Given the description of an element on the screen output the (x, y) to click on. 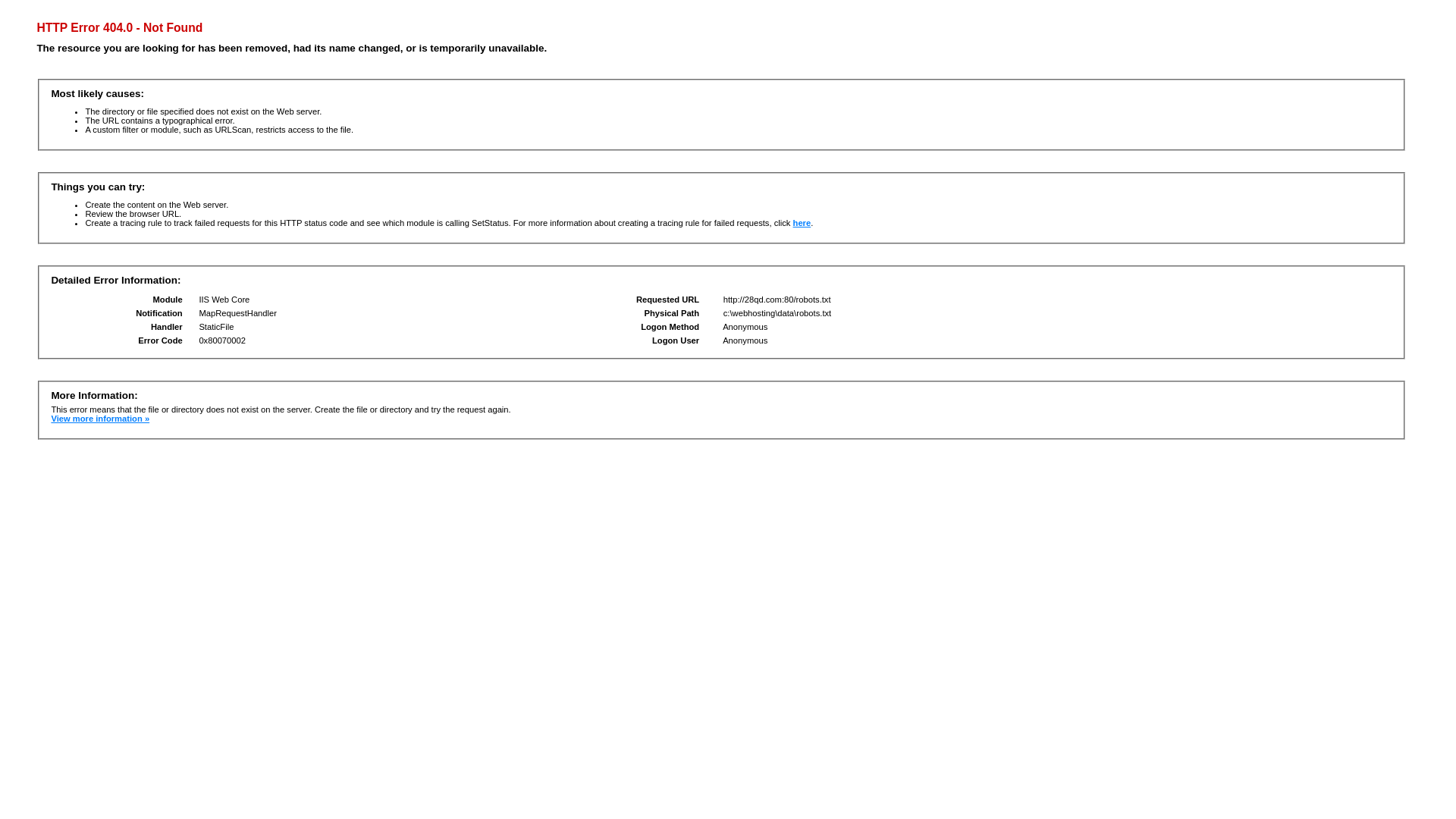
here Element type: text (802, 222)
